Given the description of an element on the screen output the (x, y) to click on. 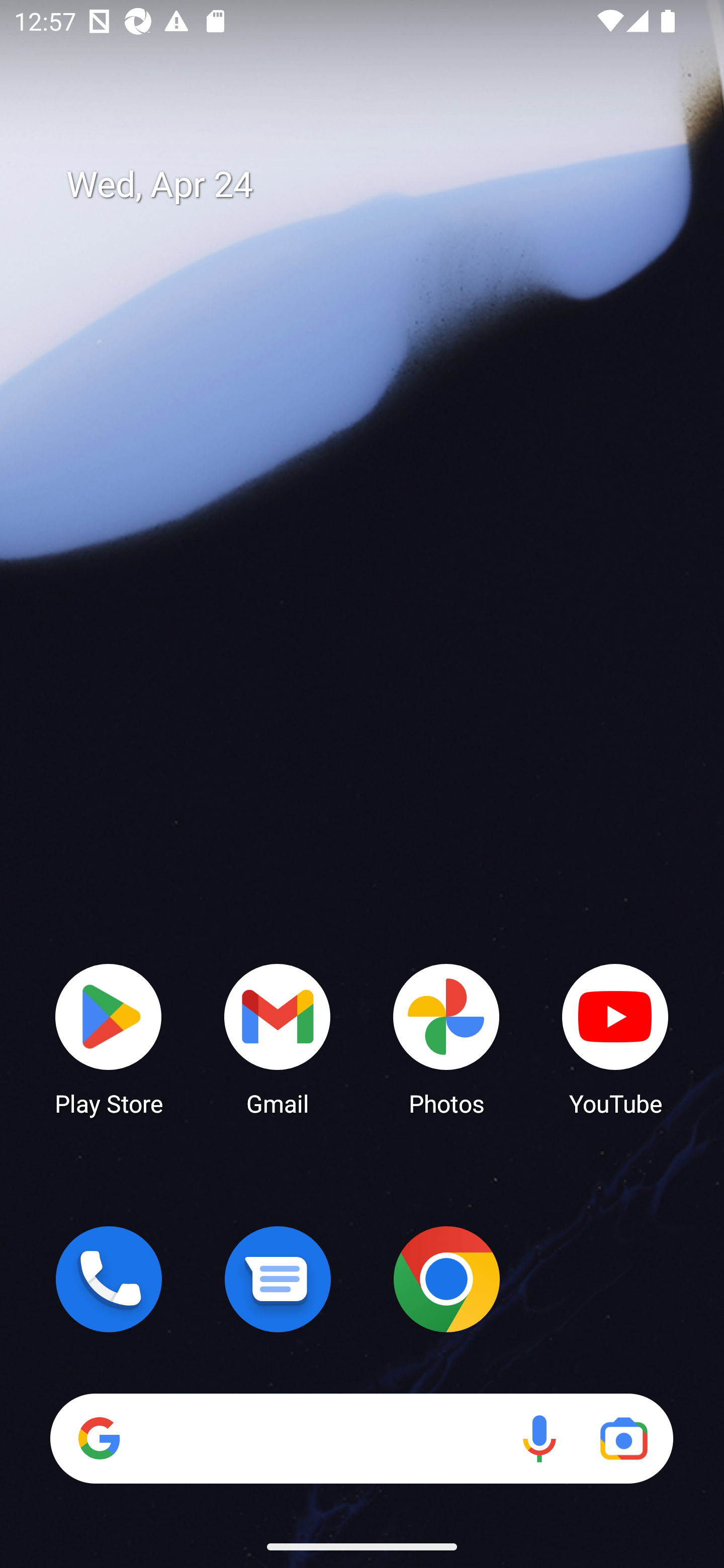
Wed, Apr 24 (375, 184)
Play Store (108, 1038)
Gmail (277, 1038)
Photos (445, 1038)
YouTube (615, 1038)
Phone (108, 1279)
Messages (277, 1279)
Chrome (446, 1279)
Search Voice search Google Lens (361, 1438)
Voice search (539, 1438)
Google Lens (623, 1438)
